Given the description of an element on the screen output the (x, y) to click on. 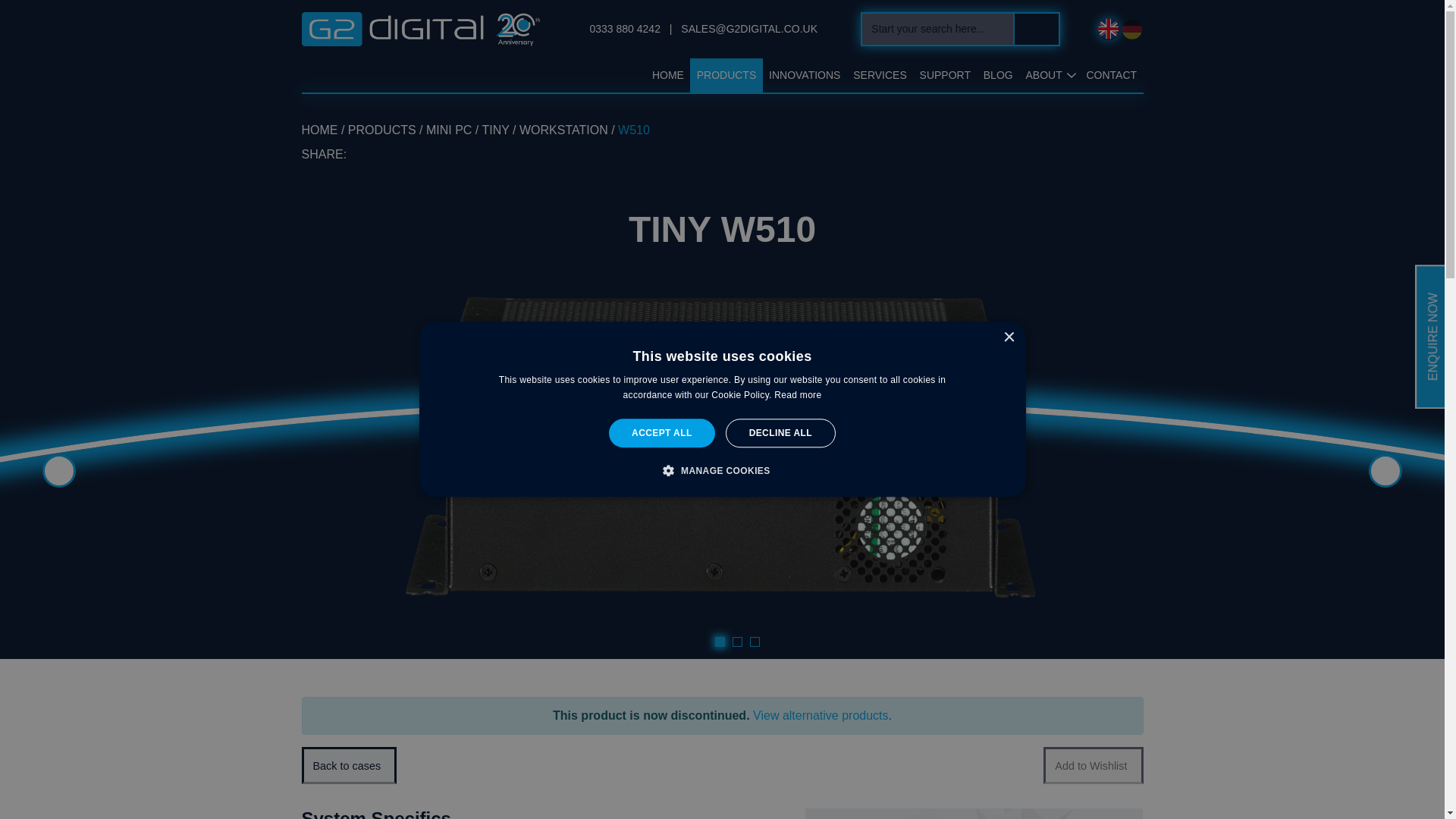
ABOUT (1043, 75)
SERVICES (879, 75)
HOME (319, 129)
HOME (668, 75)
BLOG (997, 75)
Share on LinkedIn (364, 154)
Tweet (395, 154)
PRODUCTS (725, 75)
0333 880 4242 (625, 28)
SUPPORT (944, 75)
Share via email (425, 154)
CONTACT (1111, 75)
INNOVATIONS (804, 75)
